Given the description of an element on the screen output the (x, y) to click on. 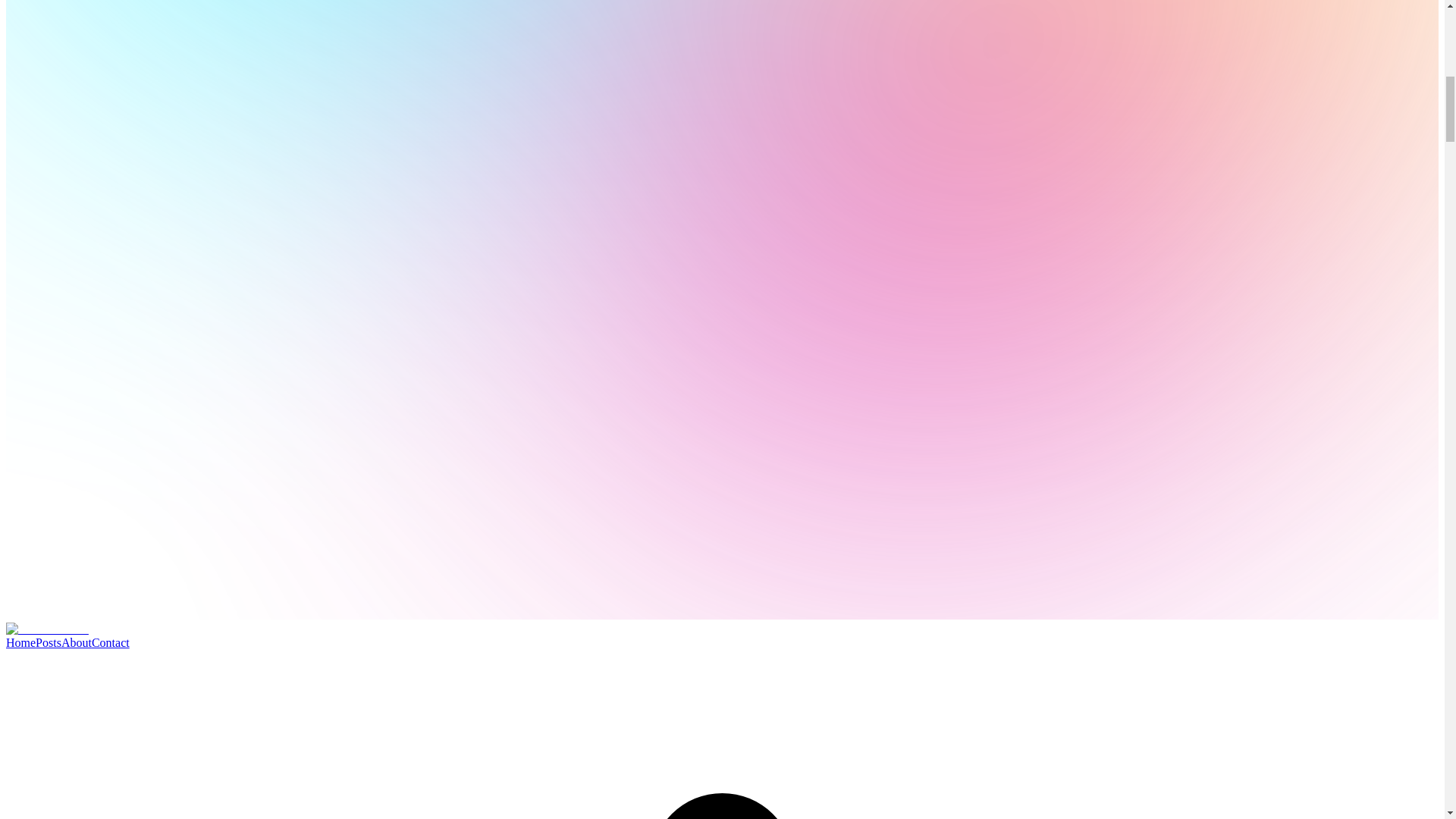
About (76, 642)
Contact (110, 642)
Posts (47, 642)
Home (19, 642)
